Given the description of an element on the screen output the (x, y) to click on. 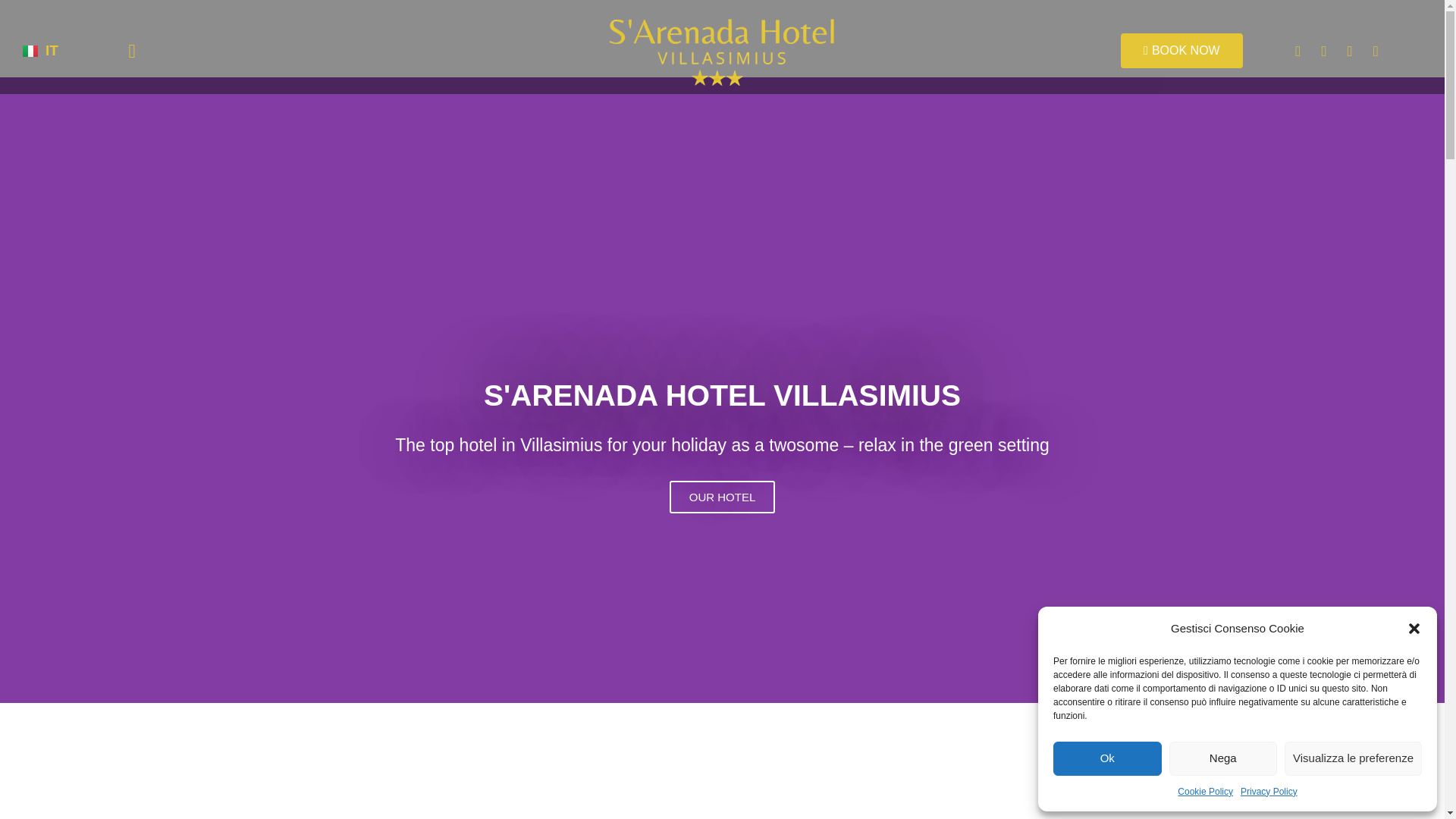
IT (40, 50)
Whatsapp (1375, 50)
Instagram (1323, 50)
Ok (1106, 758)
Nega (1223, 758)
Visualizza le preferenze (1353, 758)
Cookie Policy (1205, 791)
Privacy Policy (1268, 791)
Facebook (1298, 50)
Youtube (1349, 50)
